Given the description of an element on the screen output the (x, y) to click on. 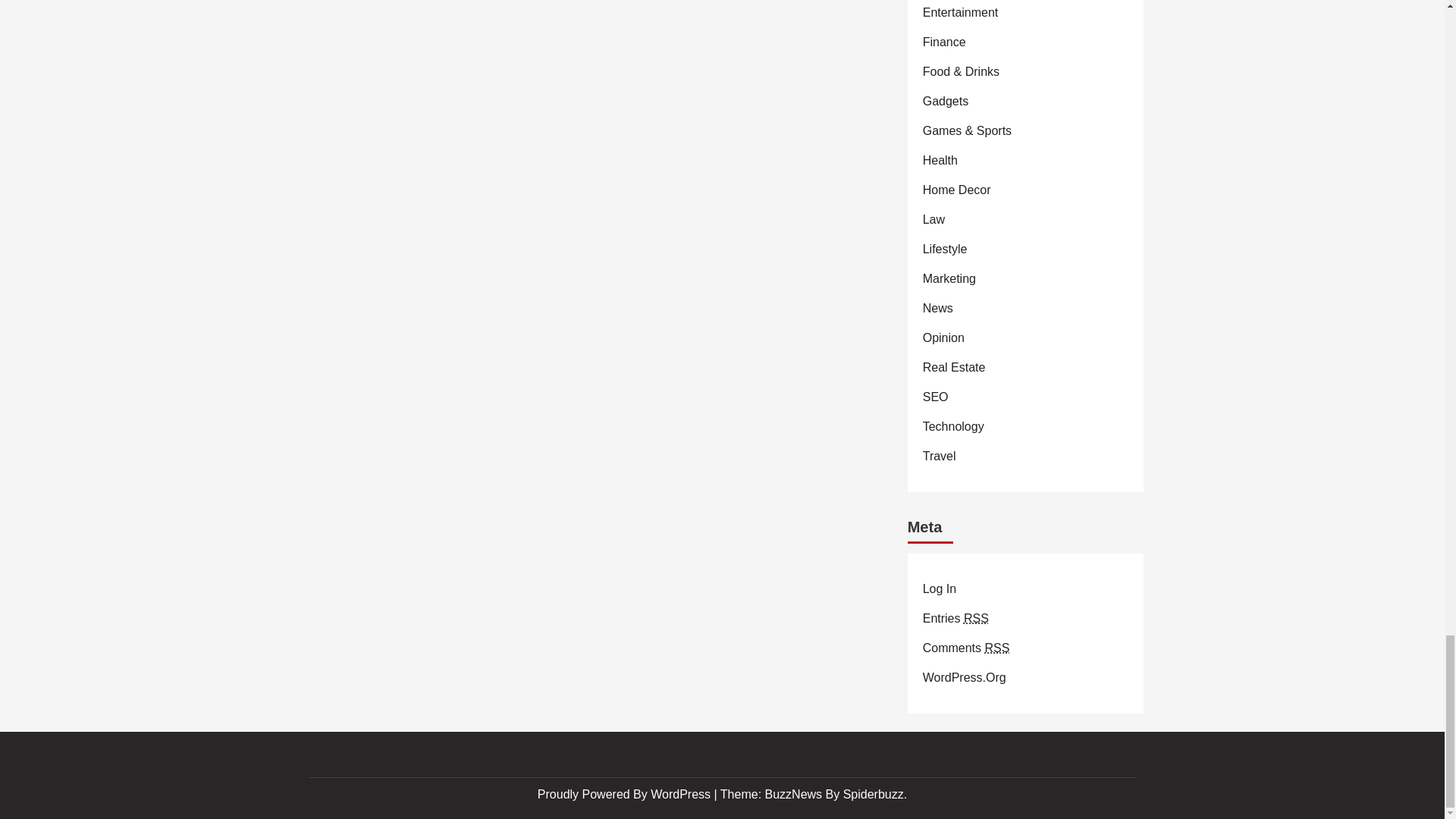
Really Simple Syndication (996, 646)
Really Simple Syndication (975, 617)
